Given the description of an element on the screen output the (x, y) to click on. 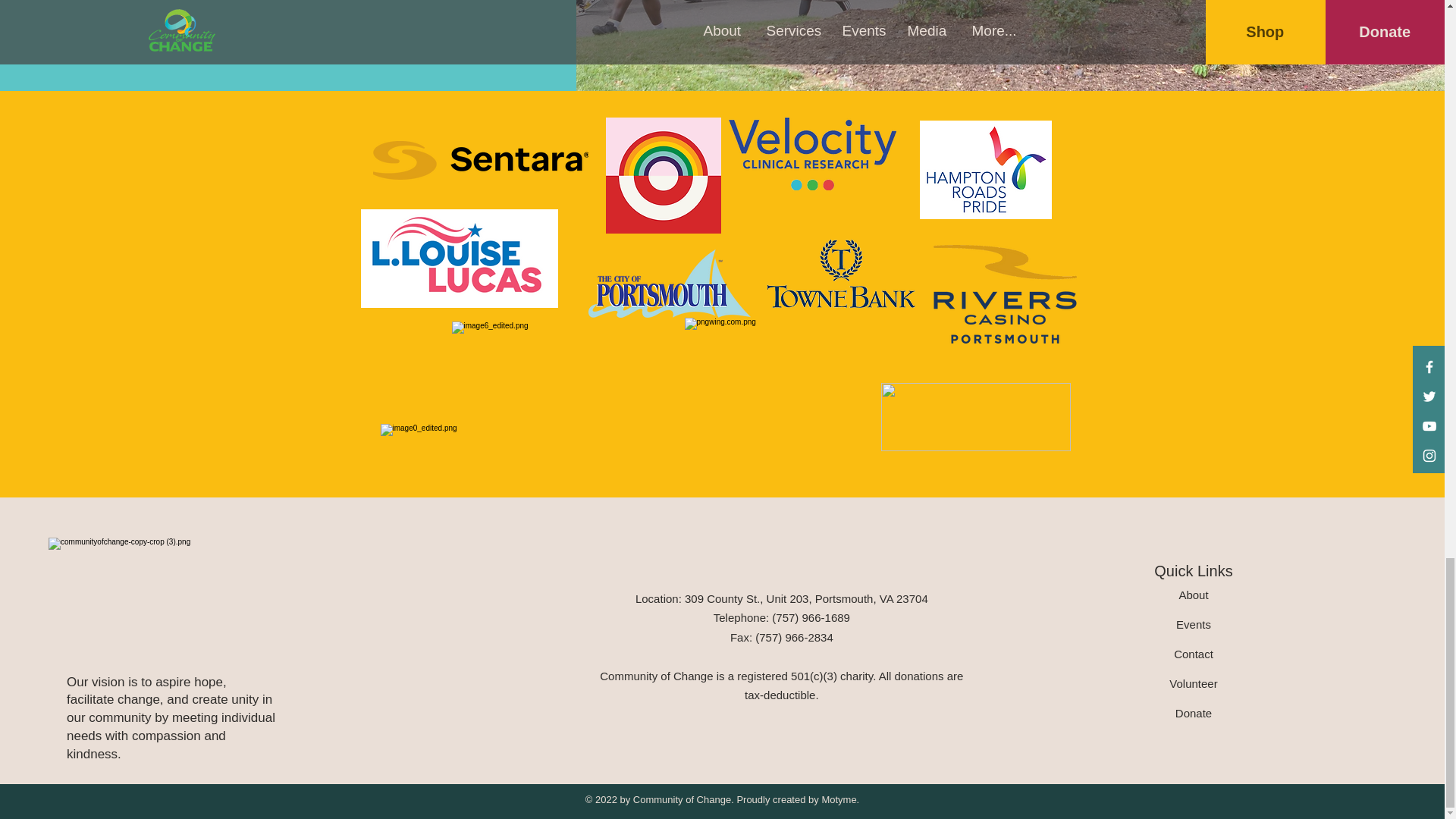
hampton roads pride.png (984, 169)
Document.png (669, 283)
Motyme. (840, 799)
image4.jpeg (841, 273)
Contact (1192, 653)
image0.png (480, 159)
Events (1193, 624)
image6.jpeg (550, 370)
About (1192, 594)
image3.png (1004, 293)
